Given the description of an element on the screen output the (x, y) to click on. 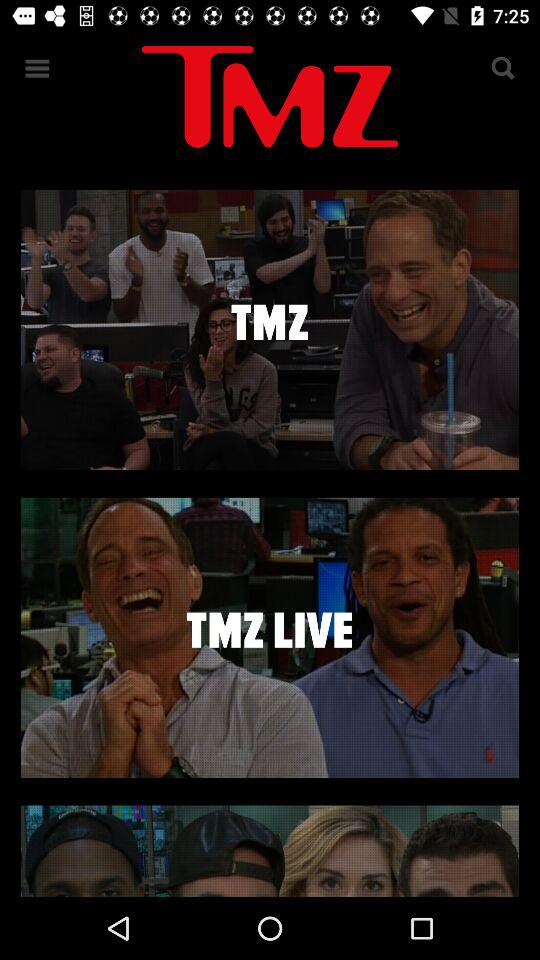
open tmz (270, 329)
